Given the description of an element on the screen output the (x, y) to click on. 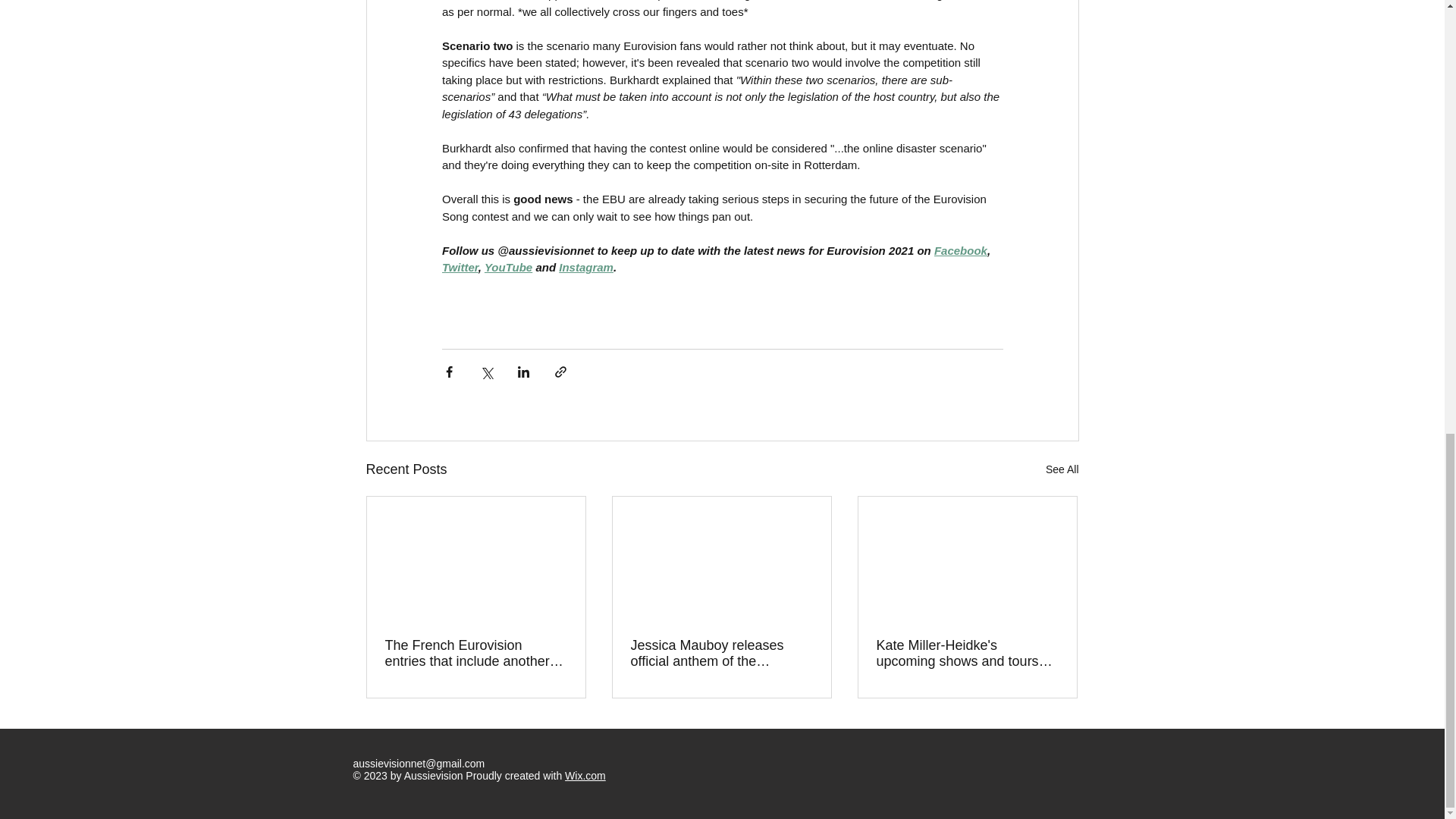
Wix.com (584, 775)
Kate Miller-Heidke's upcoming shows and tours for 2024 (967, 653)
See All (1061, 469)
The French Eurovision entries that include another language (476, 653)
Instagram (585, 267)
YouTube (507, 267)
Facebook (960, 250)
Twitter (459, 267)
